Given the description of an element on the screen output the (x, y) to click on. 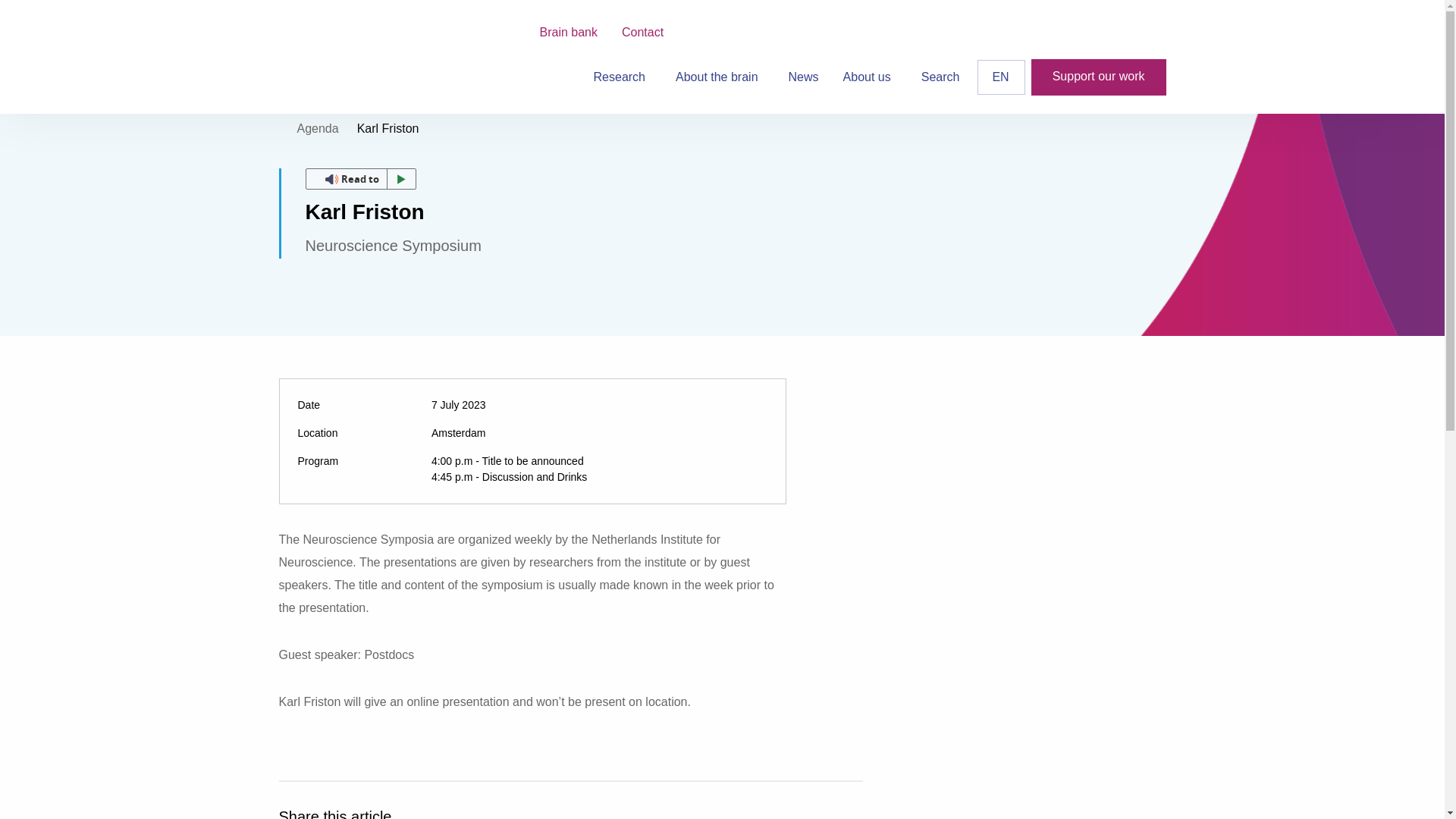
Brain bank (568, 32)
News (803, 76)
About us (869, 76)
Support our work (1098, 76)
Search (940, 76)
Research (621, 76)
Contact (642, 32)
Agenda (318, 128)
Laat de tekst voorlezen met ReadSpeaker webReader (359, 178)
EN (1000, 77)
Go to Agenda. (318, 128)
About the brain (719, 76)
